Given the description of an element on the screen output the (x, y) to click on. 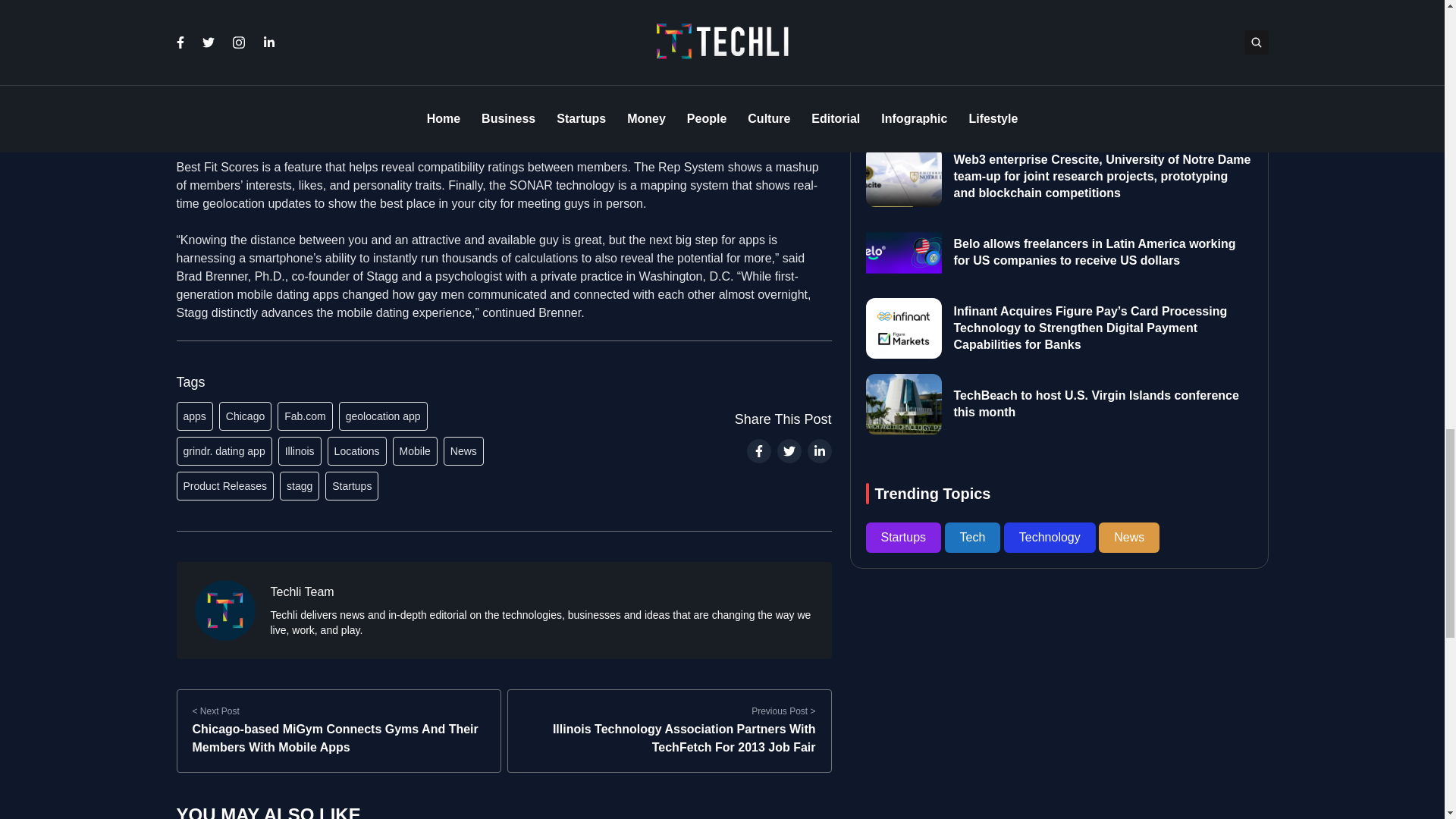
Chicago (244, 416)
apps (194, 416)
Product Releases (224, 485)
News (463, 451)
grindr. dating app (223, 451)
geolocation app (383, 416)
Mobile (415, 451)
Illinois (299, 451)
stagg (298, 485)
Fab.com (304, 416)
Locations (357, 451)
